Given the description of an element on the screen output the (x, y) to click on. 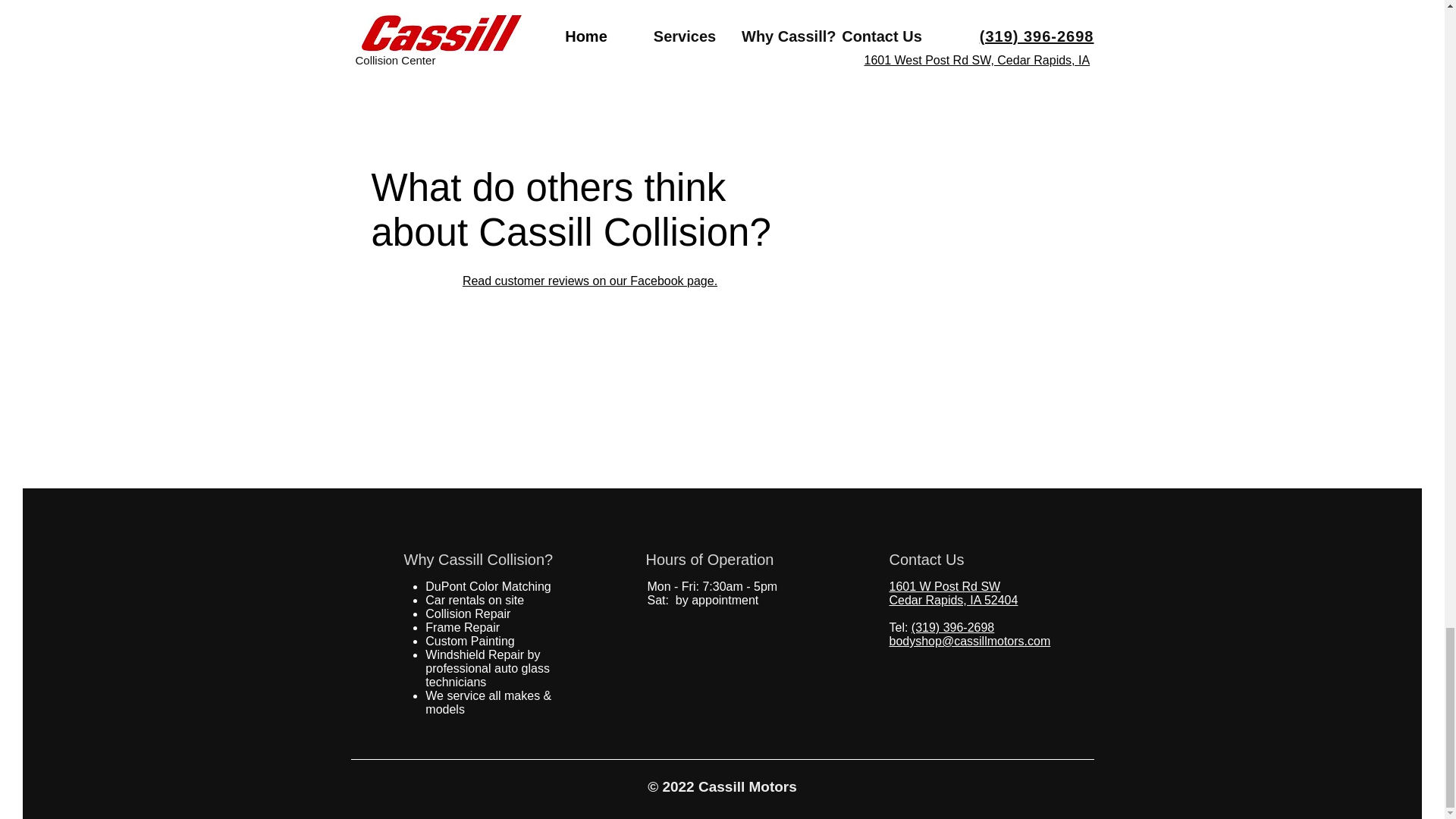
Cedar Rapids, IA 52404 (952, 599)
1601 W Post Rd SW (944, 585)
Read customer reviews on our Facebook page. (590, 280)
